Given the description of an element on the screen output the (x, y) to click on. 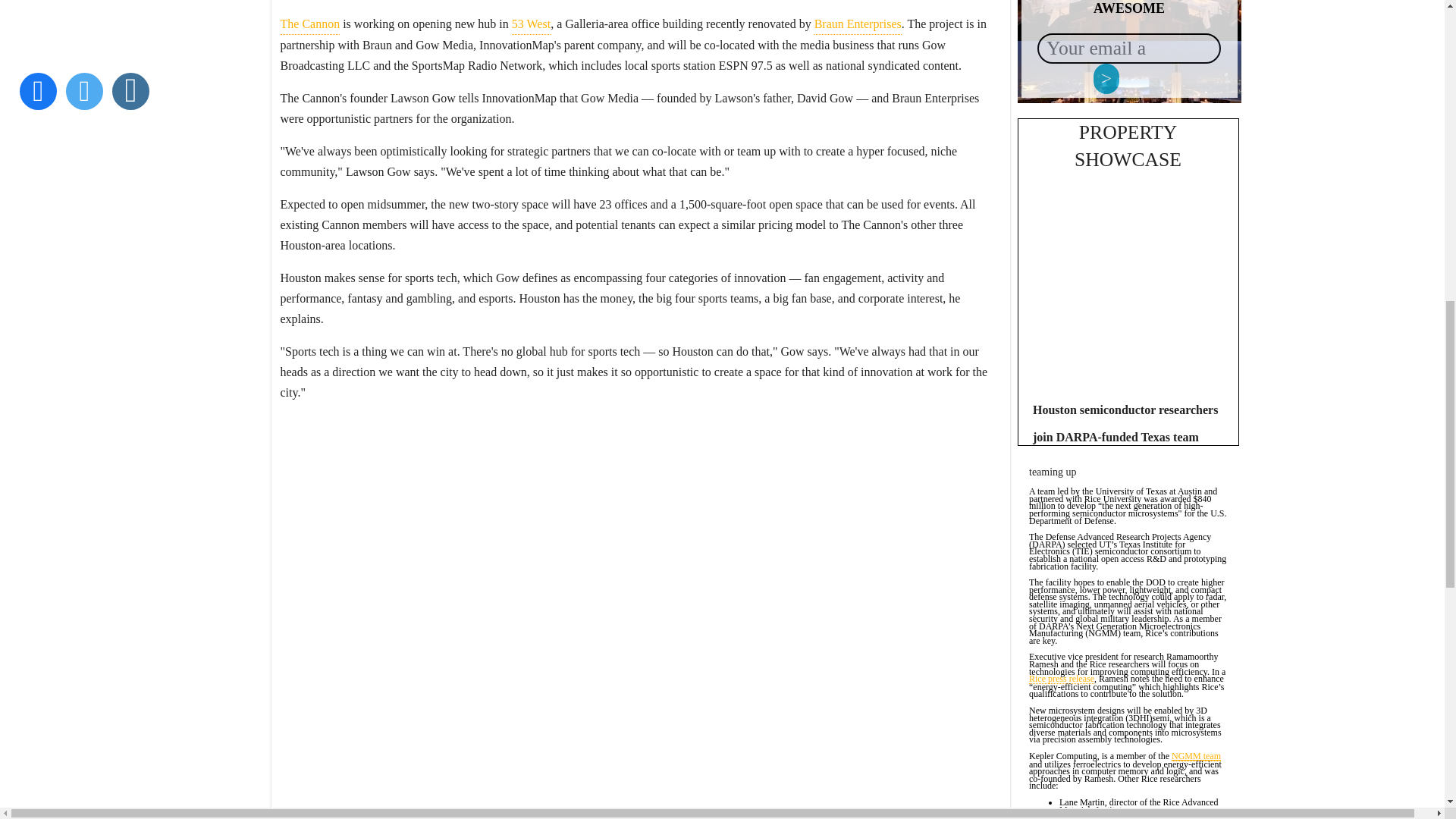
Braun Enterprises (857, 24)
PROPERTY SHOWCASE (1127, 145)
The Cannon (310, 24)
53 West (531, 24)
Rice press release (1061, 679)
NGMM team (1196, 756)
